Given the description of an element on the screen output the (x, y) to click on. 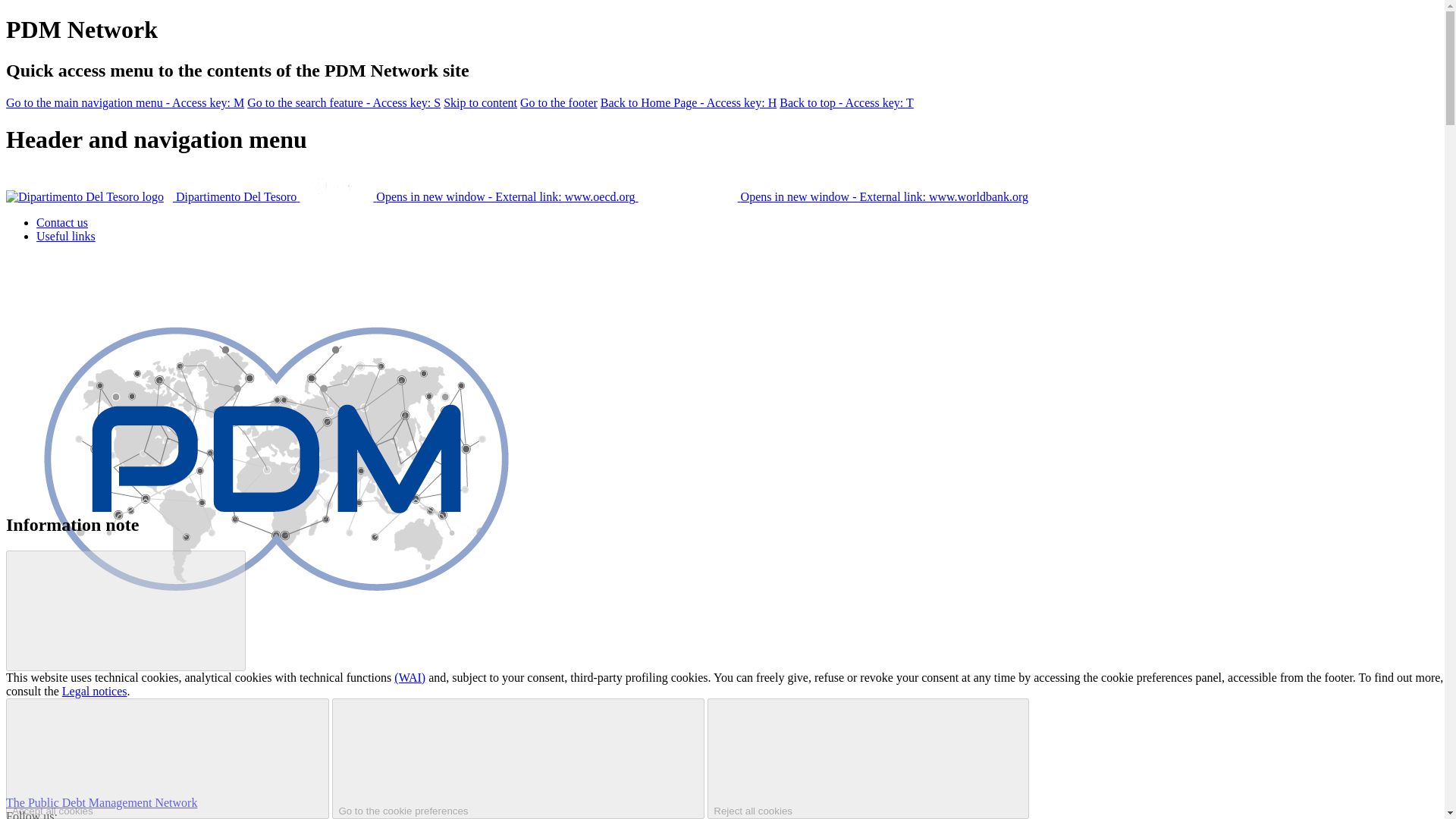
Contact us (61, 222)
Contact us (61, 222)
Opens in new window - External link: www.oecd.org (468, 196)
Go to the search feature - Access key: S (344, 102)
Opens in new window - External link: www.oecd.org (468, 196)
Skip to content (480, 102)
Back to top - Access key: T (846, 102)
Go to the footer (557, 102)
Back to Home Page - Access key: H (687, 102)
Opens in new window - External link: www.worldbank.org (834, 196)
Opens in new window - External link: www.worldbank.org (834, 196)
Dipartimento Del Tesoro (152, 196)
Useful links (66, 236)
Go to the main navigation menu - Access key: M (124, 102)
Useful links (66, 236)
